Given the description of an element on the screen output the (x, y) to click on. 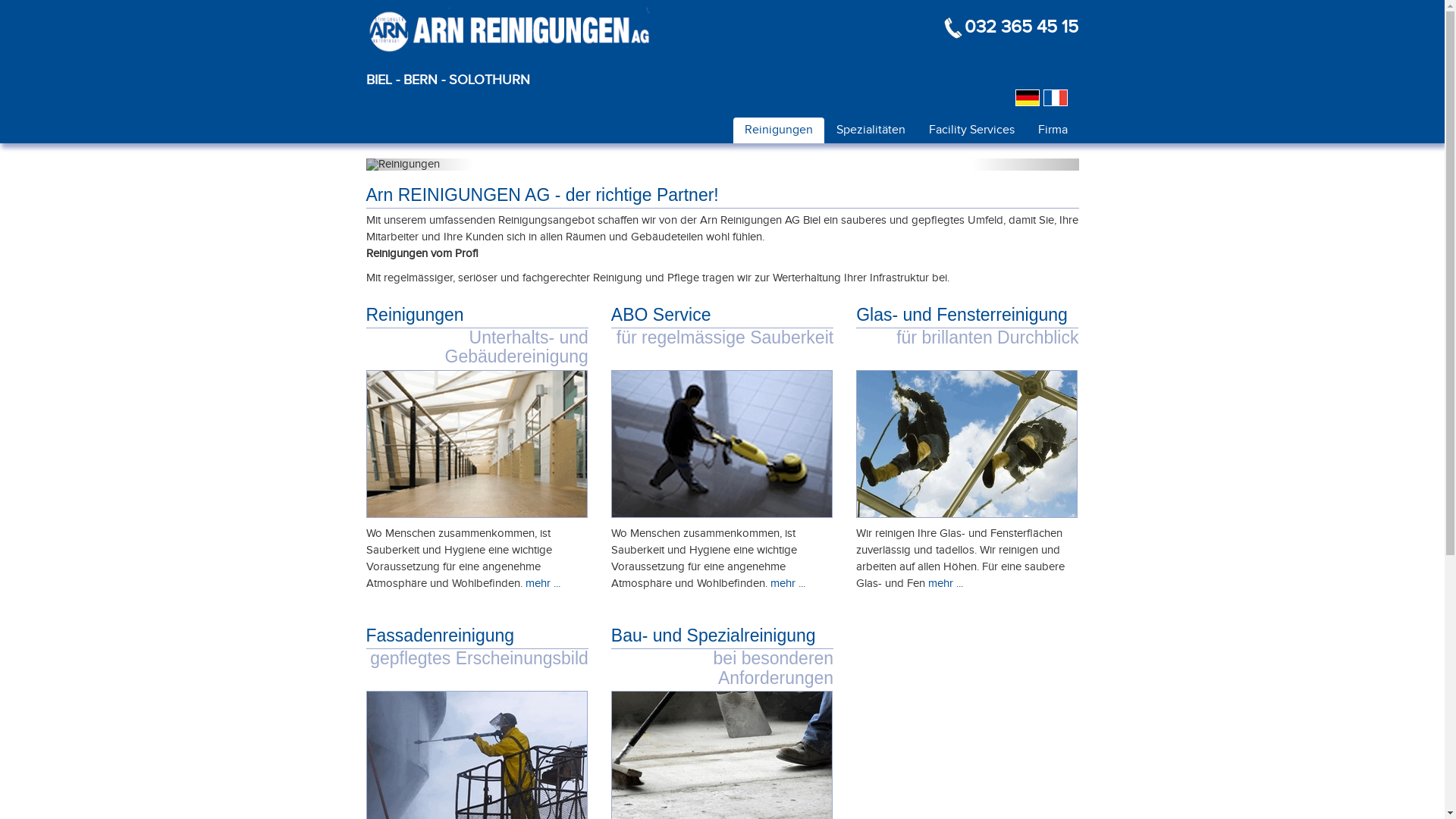
Reinigungen Element type: text (777, 129)
032 365 45 15 Element type: text (1021, 26)
Facility Services Element type: text (971, 129)
Firma Element type: text (1052, 129)
